Given the description of an element on the screen output the (x, y) to click on. 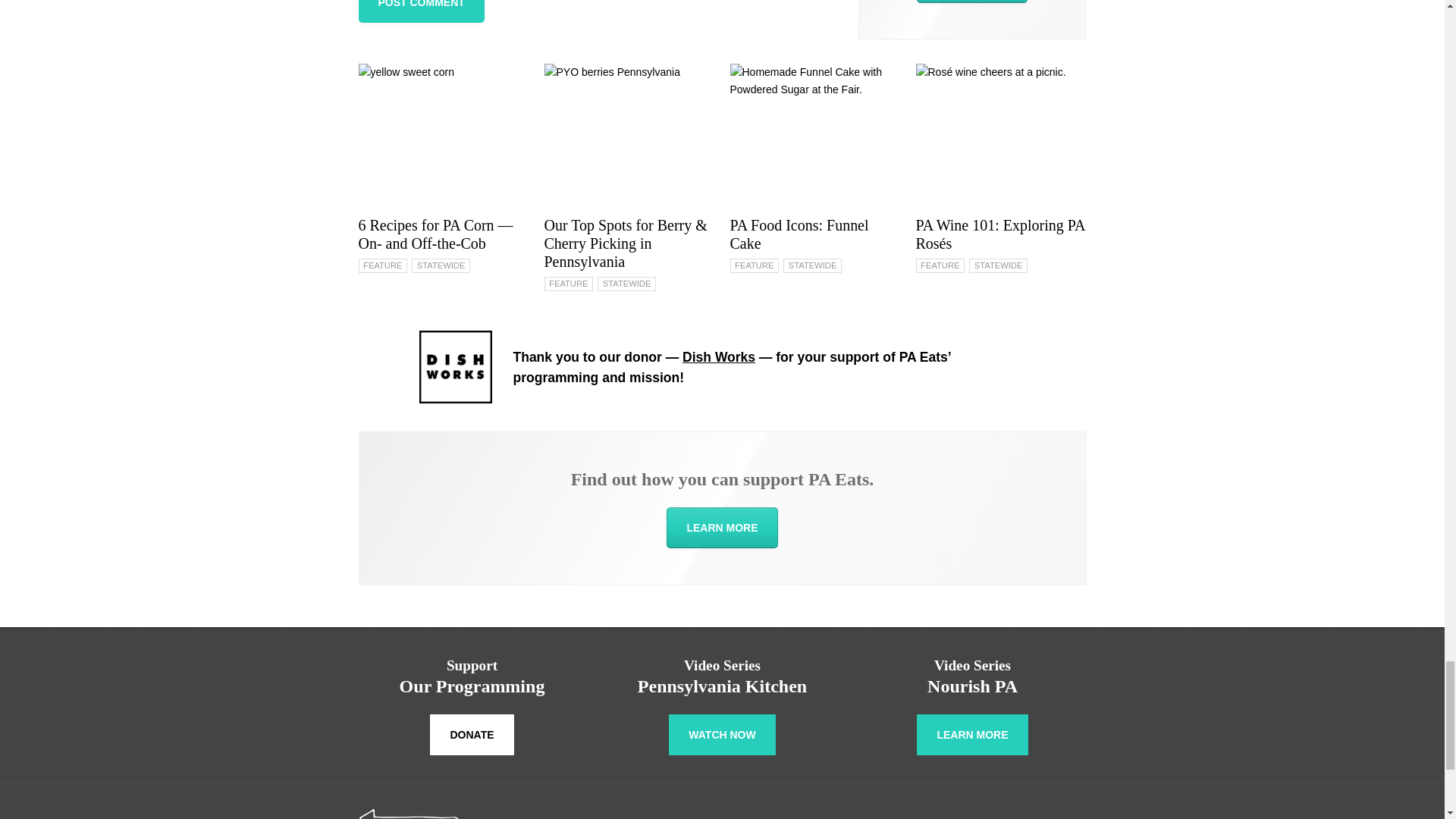
PA Eats Logo (454, 814)
Post Comment (420, 11)
